Given the description of an element on the screen output the (x, y) to click on. 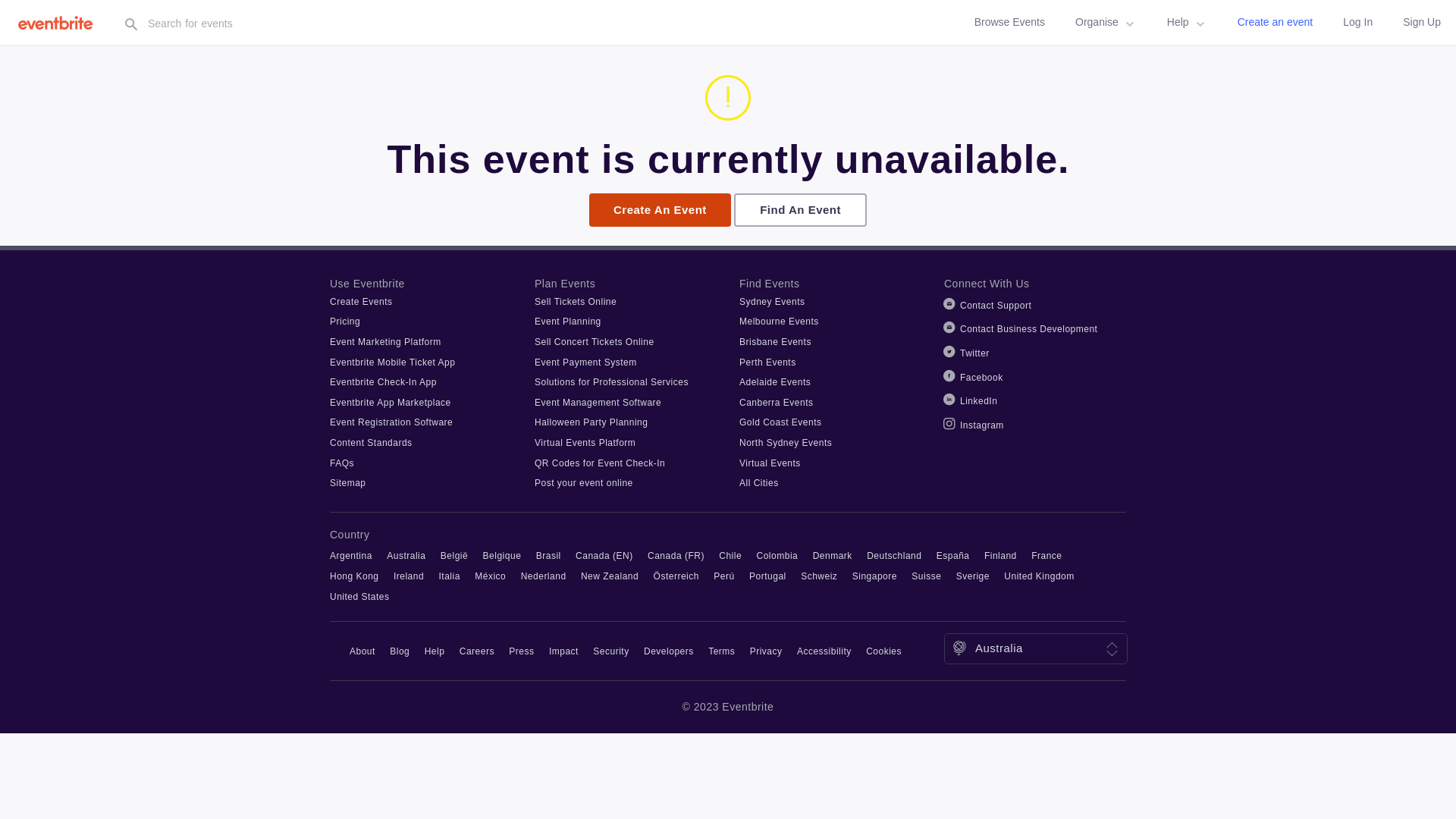
Canada (FR) Element type: text (675, 555)
Impact Element type: text (563, 651)
France Element type: text (1046, 555)
Event Payment System Element type: text (585, 362)
Event Marketing Platform Element type: text (385, 341)
Canberra Events Element type: text (776, 402)
New Zealand Element type: text (609, 576)
Twitter Element type: text (974, 353)
Denmark Element type: text (832, 555)
Eventbrite Mobile Ticket App Element type: text (392, 362)
United Kingdom Element type: text (1038, 576)
Event Management Software Element type: text (597, 402)
Contact Business Development Element type: text (1028, 328)
Ireland Element type: text (408, 576)
Brasil Element type: text (548, 555)
Press Element type: text (520, 651)
Finland Element type: text (1000, 555)
Eventbrite App Marketplace Element type: text (390, 402)
Facebook Element type: text (981, 377)
Hong Kong Element type: text (354, 576)
Australia Element type: text (998, 647)
Gold Coast Events Element type: text (780, 422)
Eventbrite Element type: text (59, 22)
Content Standards Element type: text (370, 442)
Portugal Element type: text (767, 576)
Pricing Element type: text (344, 321)
Developers Element type: text (668, 651)
FAQs Element type: text (341, 463)
Cookies Element type: text (883, 651)
Colombia Element type: text (777, 555)
Instagram Element type: text (982, 425)
Perth Events Element type: text (767, 362)
Skip Main Navigation Element type: text (0, 0)
North Sydney Events Element type: text (785, 442)
Help Element type: text (434, 651)
Solutions for Professional Services Element type: text (611, 381)
Create Events Element type: text (360, 301)
Careers Element type: text (476, 651)
QR Codes for Event Check-In Element type: text (599, 463)
Italia Element type: text (449, 576)
Belgique Element type: text (502, 555)
Event Planning Element type: text (567, 321)
Page Content Element type: text (0, 45)
Deutschland Element type: text (893, 555)
Create an event Element type: text (1275, 22)
Sell Tickets Online Element type: text (575, 301)
Post your event online Element type: text (583, 482)
United States Element type: text (359, 596)
Sydney Events Element type: text (772, 301)
Singapore Element type: text (874, 576)
Virtual Events Platform Element type: text (584, 442)
Browse Events Element type: text (1009, 22)
Privacy Element type: text (765, 651)
Australia Element type: text (405, 555)
Melbourne Events Element type: text (779, 321)
Create An Event Element type: text (660, 209)
Sverige Element type: text (972, 576)
Argentina Element type: text (350, 555)
About Element type: text (362, 651)
Adelaide Events Element type: text (774, 381)
Terms Element type: text (721, 651)
Event Registration Software Element type: text (390, 422)
Log In Element type: text (1357, 22)
Accessibility Element type: text (824, 651)
Security Element type: text (610, 651)
Organise Element type: text (1105, 22)
Eventbrite Check-In App Element type: text (382, 381)
Contact Support Element type: text (995, 305)
Schweiz Element type: text (818, 576)
Brisbane Events Element type: text (775, 341)
Sell Concert Tickets Online Element type: text (594, 341)
Canada (EN) Element type: text (604, 555)
Blog Element type: text (399, 651)
Halloween Party Planning Element type: text (590, 422)
Find An Event Element type: text (800, 209)
All Cities Element type: text (758, 482)
LinkedIn Element type: text (978, 400)
Virtual Events Element type: text (769, 463)
Sitemap Element type: text (347, 482)
Help Element type: text (1186, 22)
Nederland Element type: text (543, 576)
Chile Element type: text (729, 555)
Suisse Element type: text (926, 576)
